Given the description of an element on the screen output the (x, y) to click on. 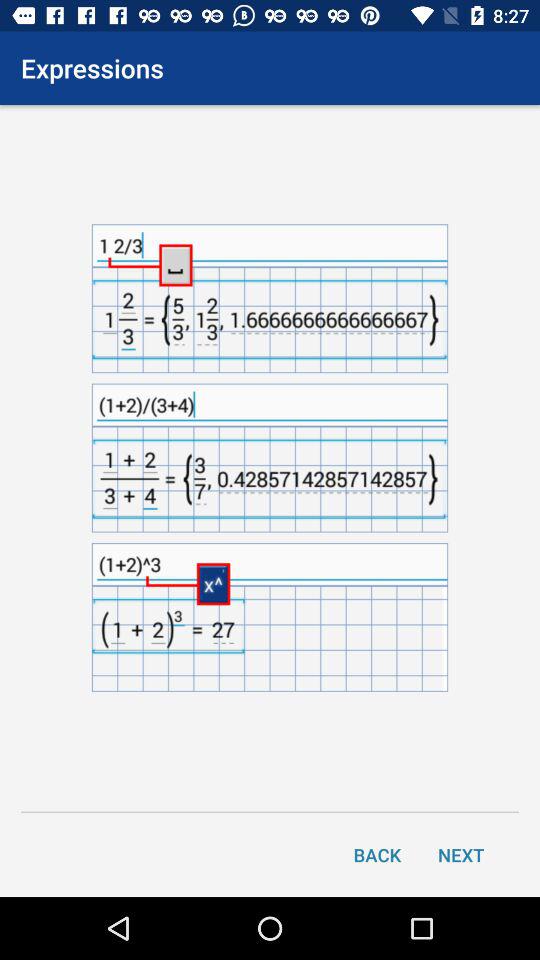
turn on icon next to next (377, 854)
